Given the description of an element on the screen output the (x, y) to click on. 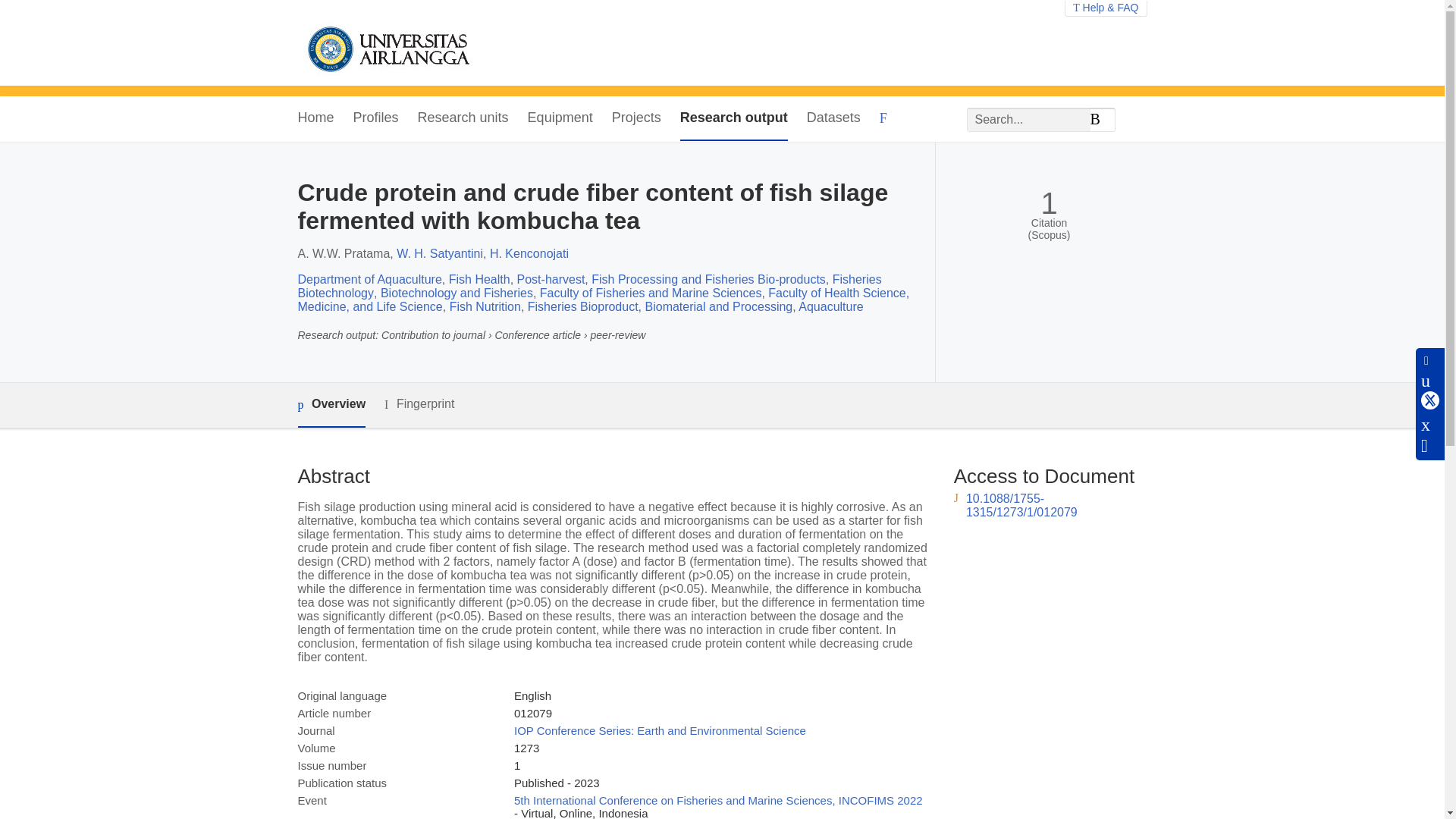
Profiles (375, 118)
Post-harvest, Fish Processing and Fisheries Bio-products (670, 278)
Overview (331, 405)
Fisheries Bioproduct, Biomaterial and Processing (660, 306)
Research output (733, 118)
Faculty of Health Science, Medicine, and Life Science (602, 299)
Fish Nutrition (485, 306)
Fish Health (479, 278)
